Given the description of an element on the screen output the (x, y) to click on. 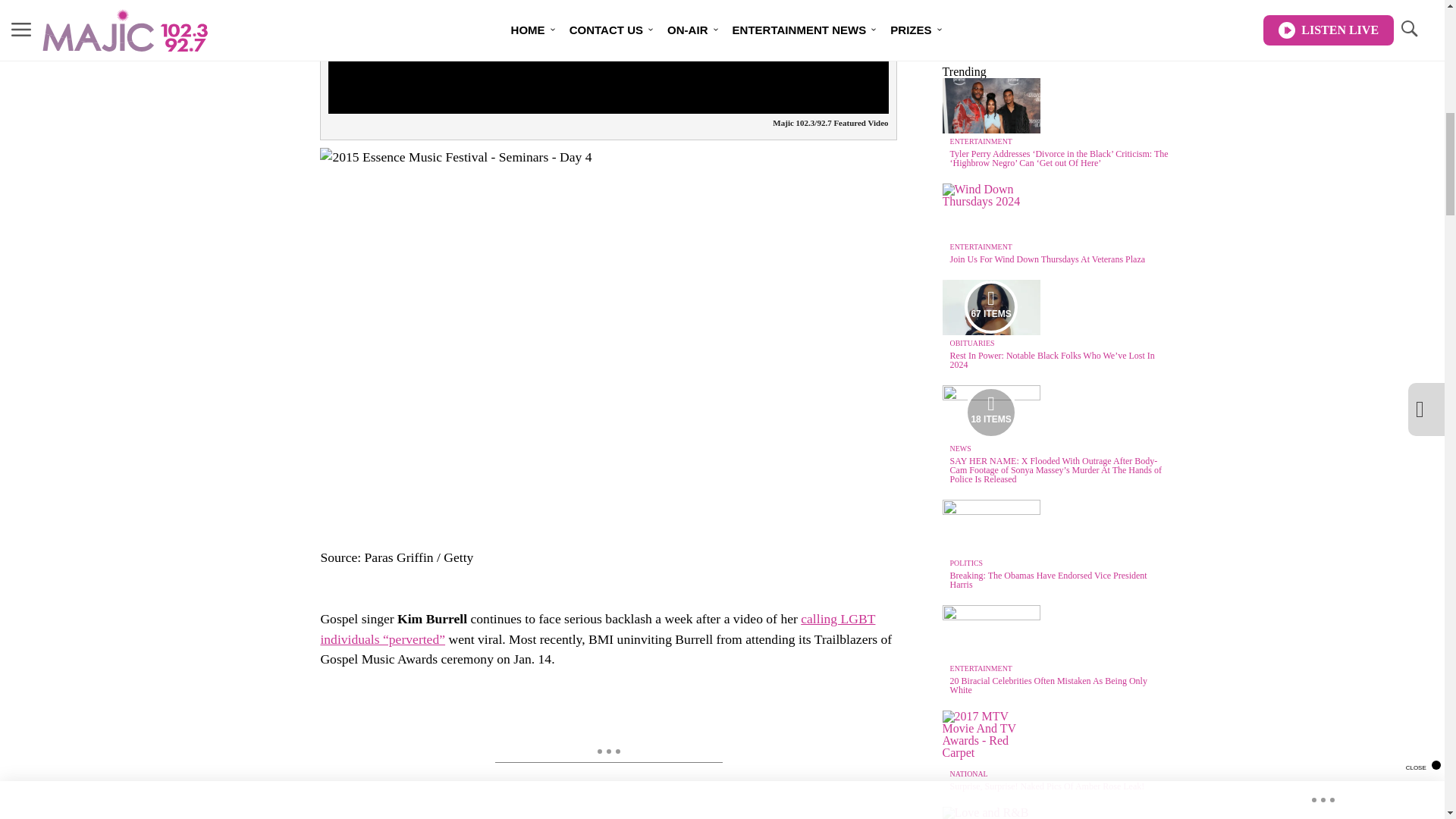
Media Playlist (990, 306)
Media Playlist (990, 411)
